Given the description of an element on the screen output the (x, y) to click on. 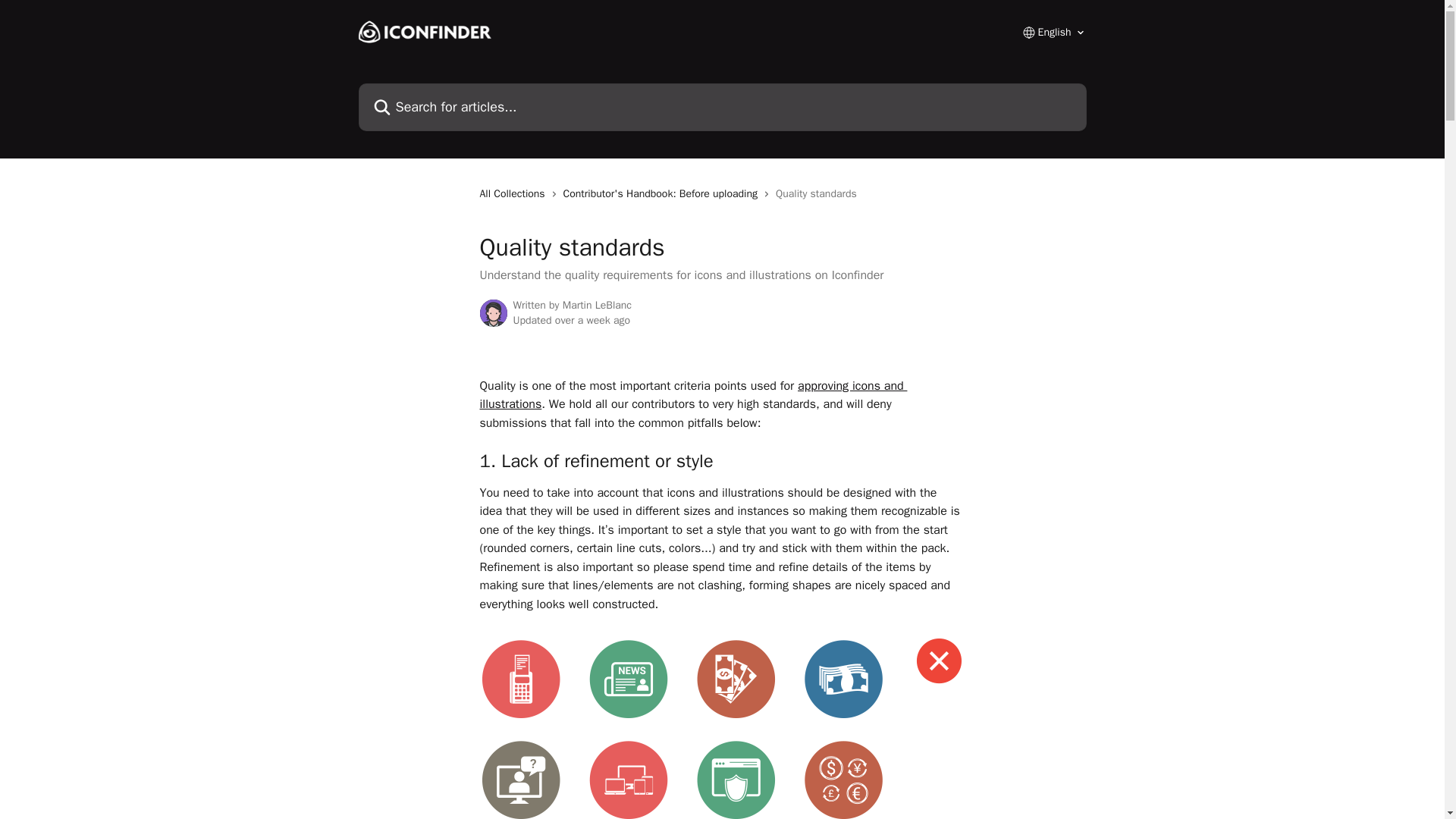
All Collections (514, 193)
Contributor's Handbook: Before uploading (662, 193)
approving icons and illustrations (693, 394)
